Given the description of an element on the screen output the (x, y) to click on. 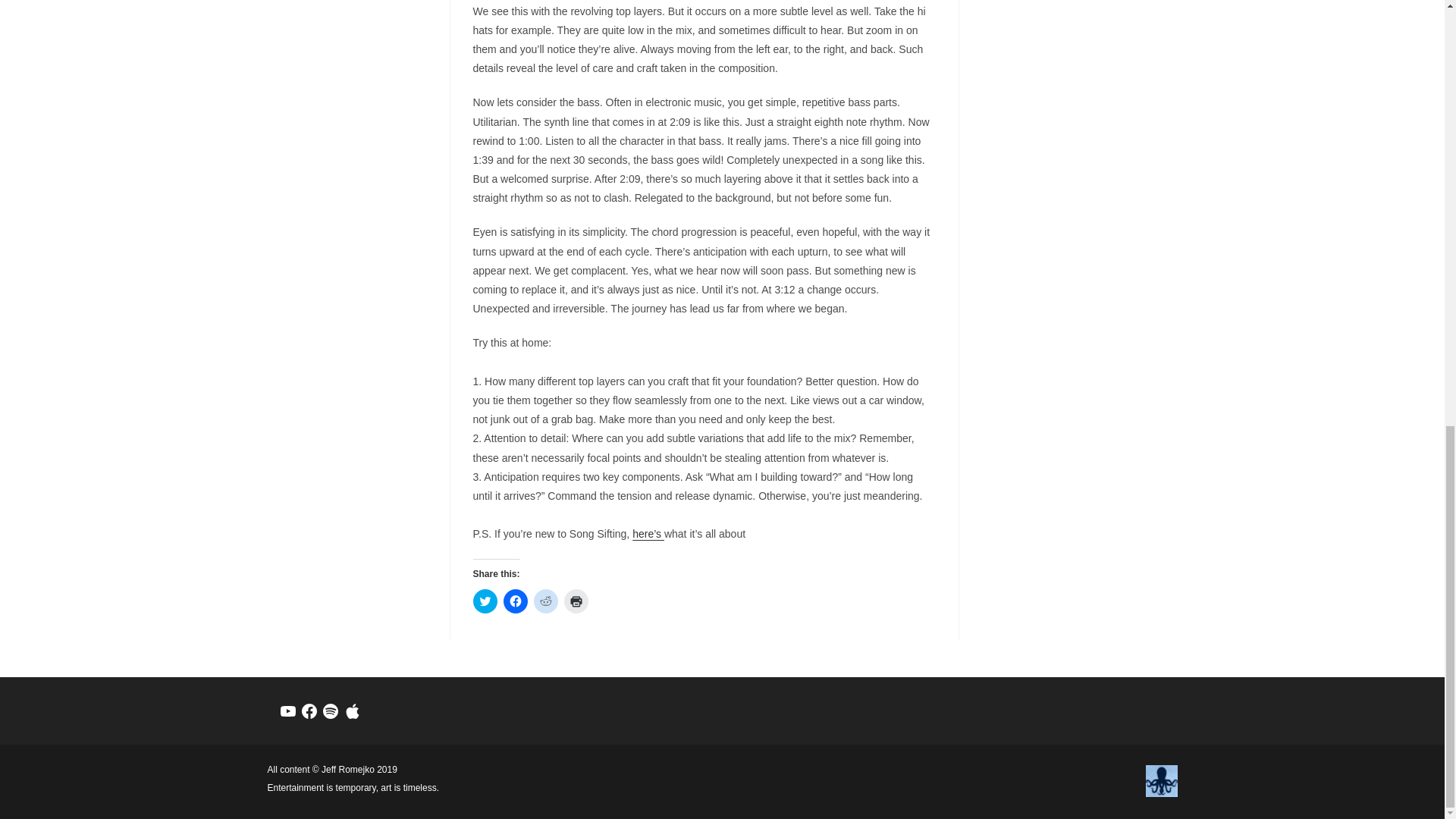
Click to share on Facebook (515, 600)
Click to share on Twitter (485, 600)
Click to share on Reddit (545, 600)
Click to print (576, 600)
